Given the description of an element on the screen output the (x, y) to click on. 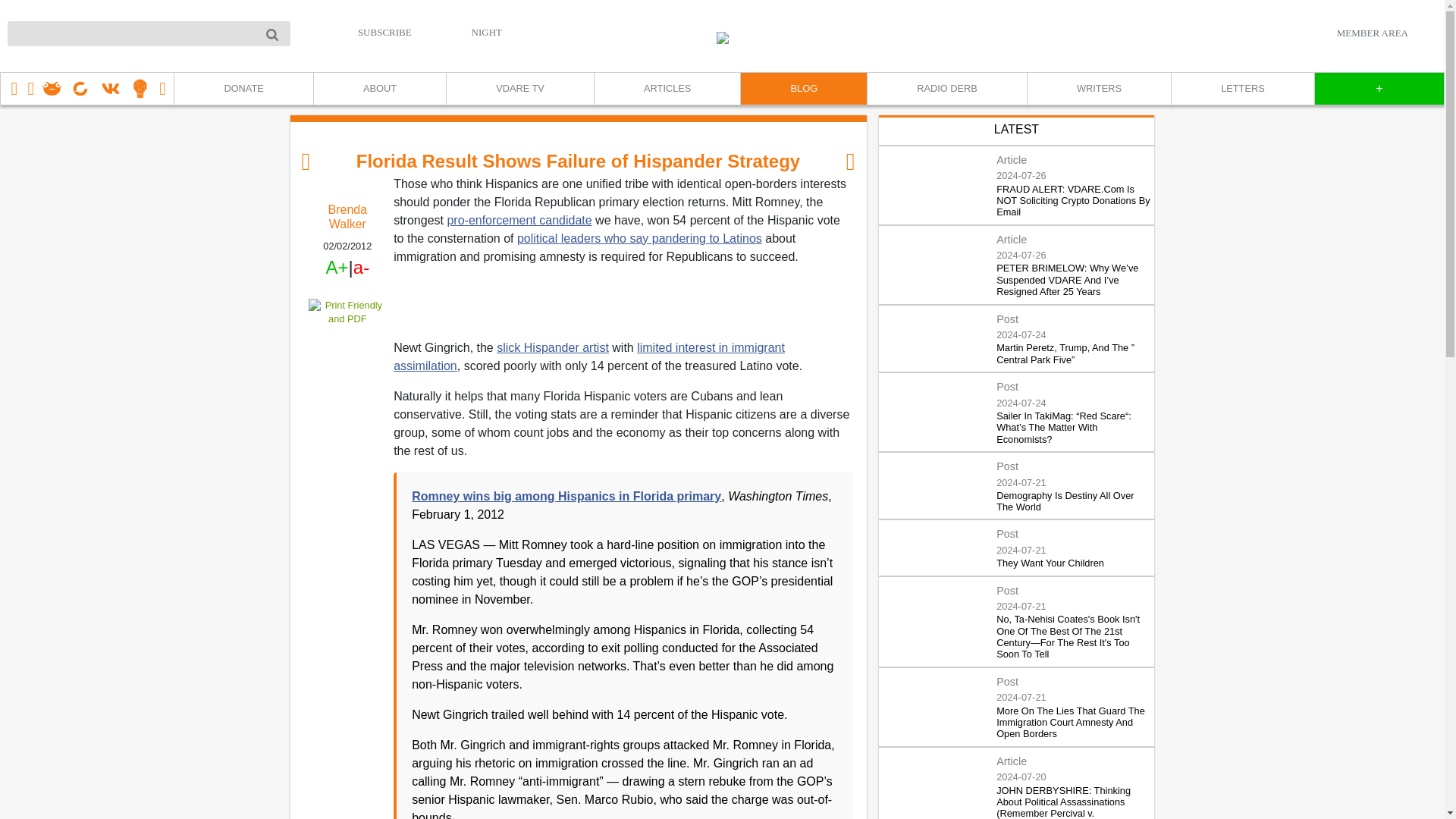
ABOUT (379, 88)
LETTERS (1242, 88)
Printer Friendly and PDF (347, 311)
Share to Email (347, 404)
SUBSCRIBE (385, 31)
Share to Twitter (347, 358)
DONATE (243, 88)
VDARE TV (519, 88)
WRITERS (1098, 88)
RADIO DERB (946, 88)
